Given the description of an element on the screen output the (x, y) to click on. 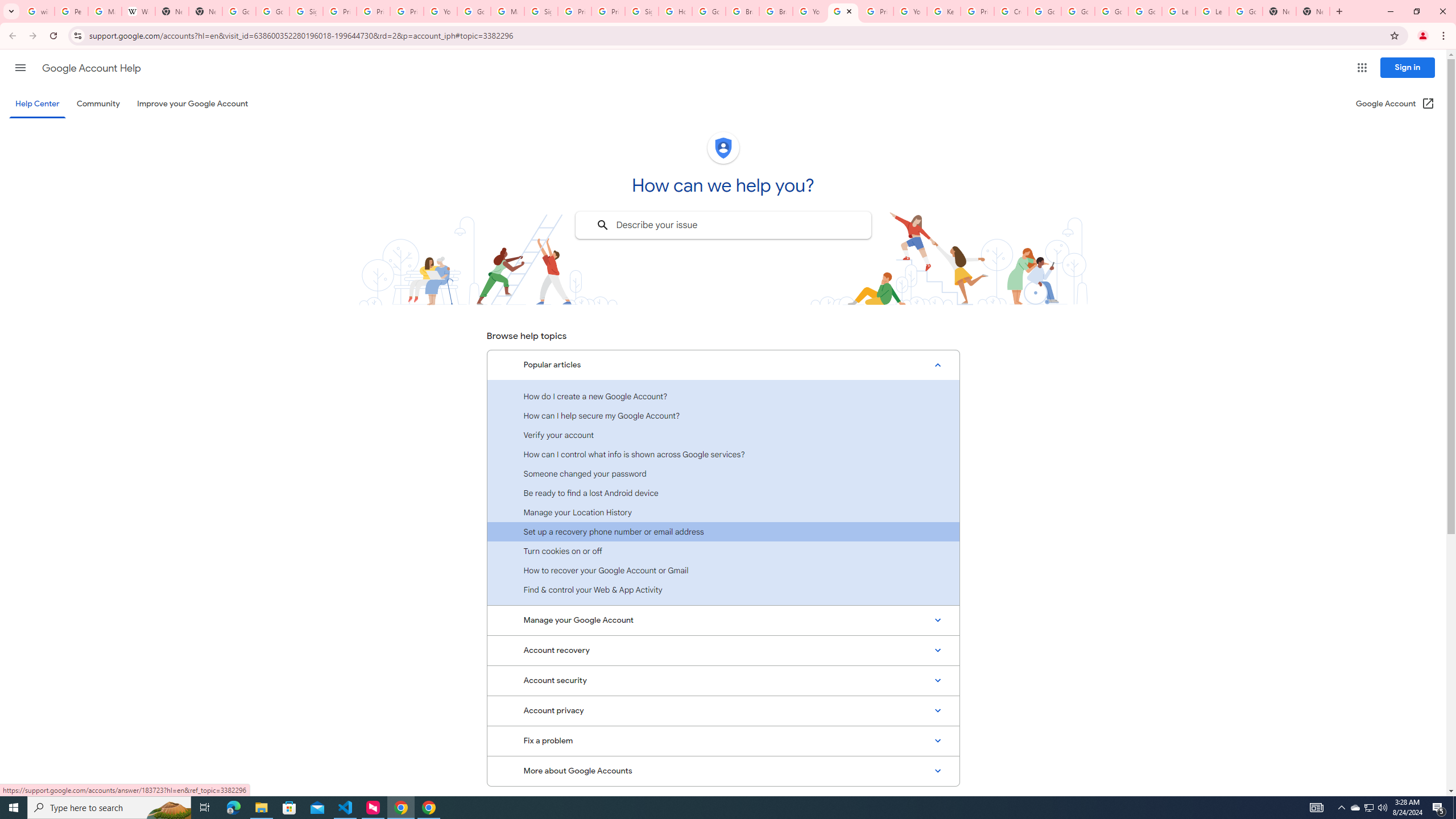
How can I help secure my Google Account? (722, 415)
How can I control what info is shown across Google services? (722, 454)
Google Account Help (1077, 11)
Be ready to find a lost Android device (722, 492)
How to recover your Google Account or Gmail (722, 570)
